Given the description of an element on the screen output the (x, y) to click on. 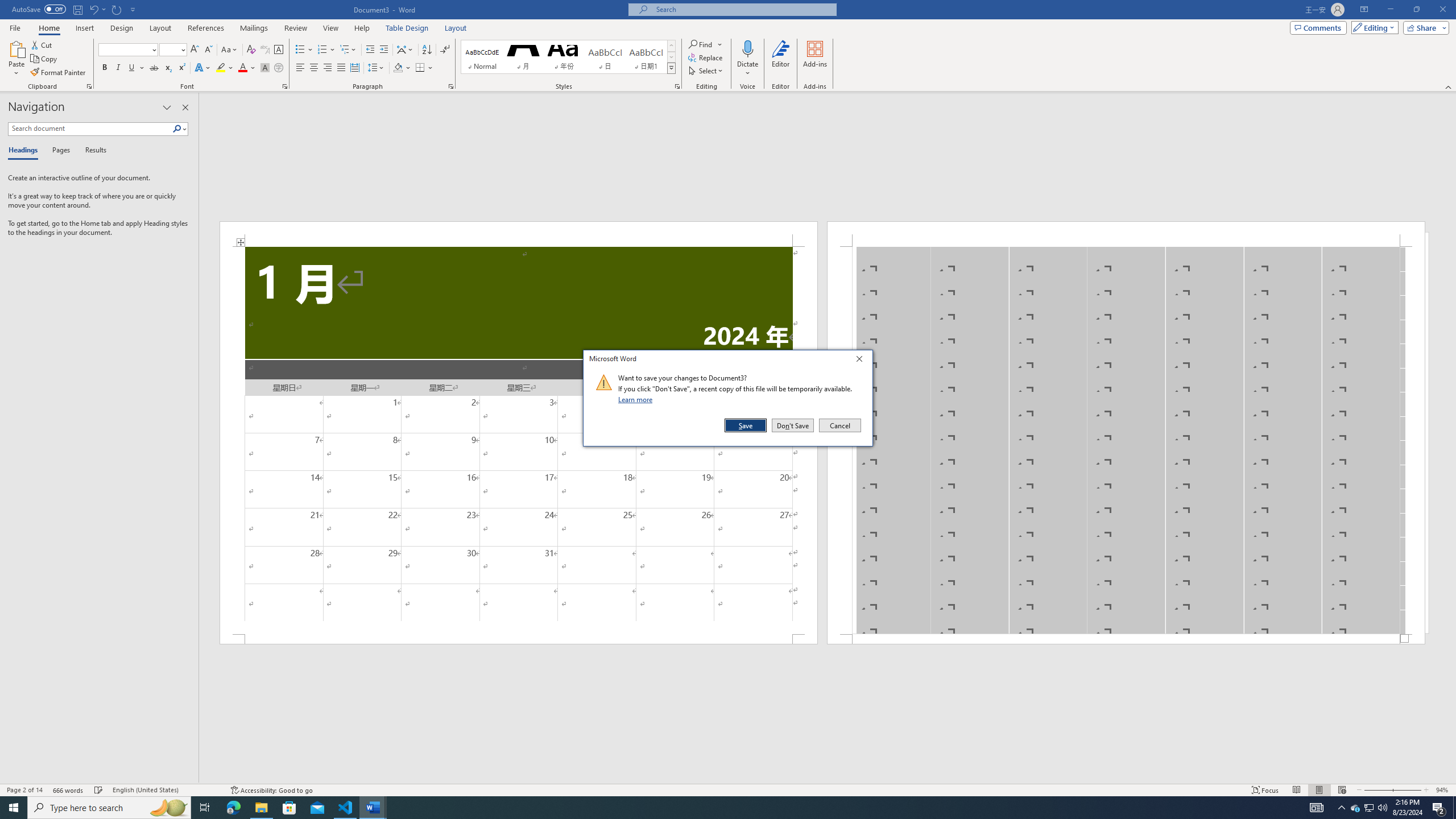
Repeat Shrink Font (117, 9)
Distributed (354, 67)
Q2790: 100% (1382, 807)
Enclose Characters... (278, 67)
Font Color (246, 67)
Undo Shrink Font (96, 9)
Shading (402, 67)
Pages (59, 150)
